Given the description of an element on the screen output the (x, y) to click on. 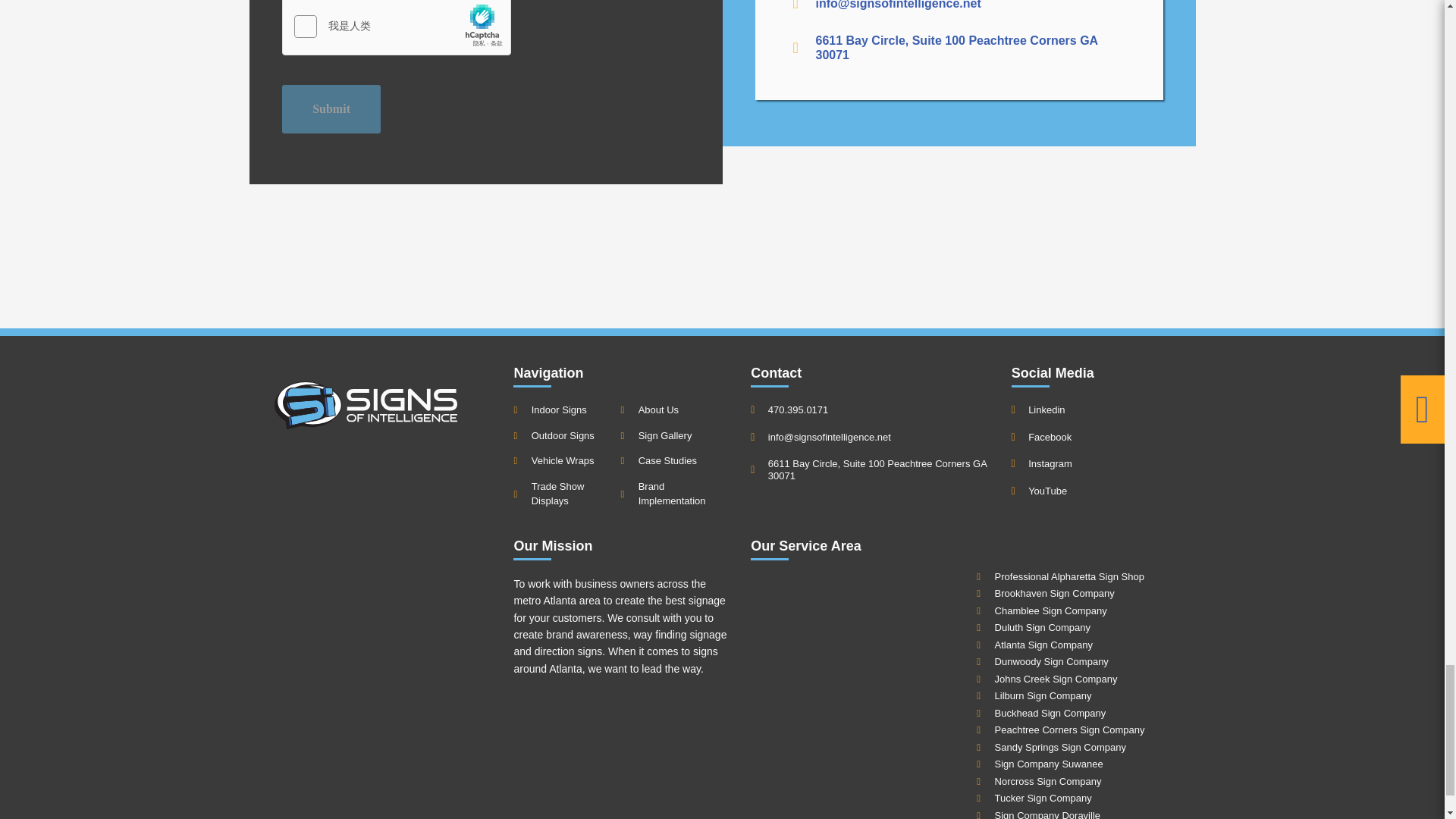
Signs of Intelligence Peachtree (860, 686)
